Given the description of an element on the screen output the (x, y) to click on. 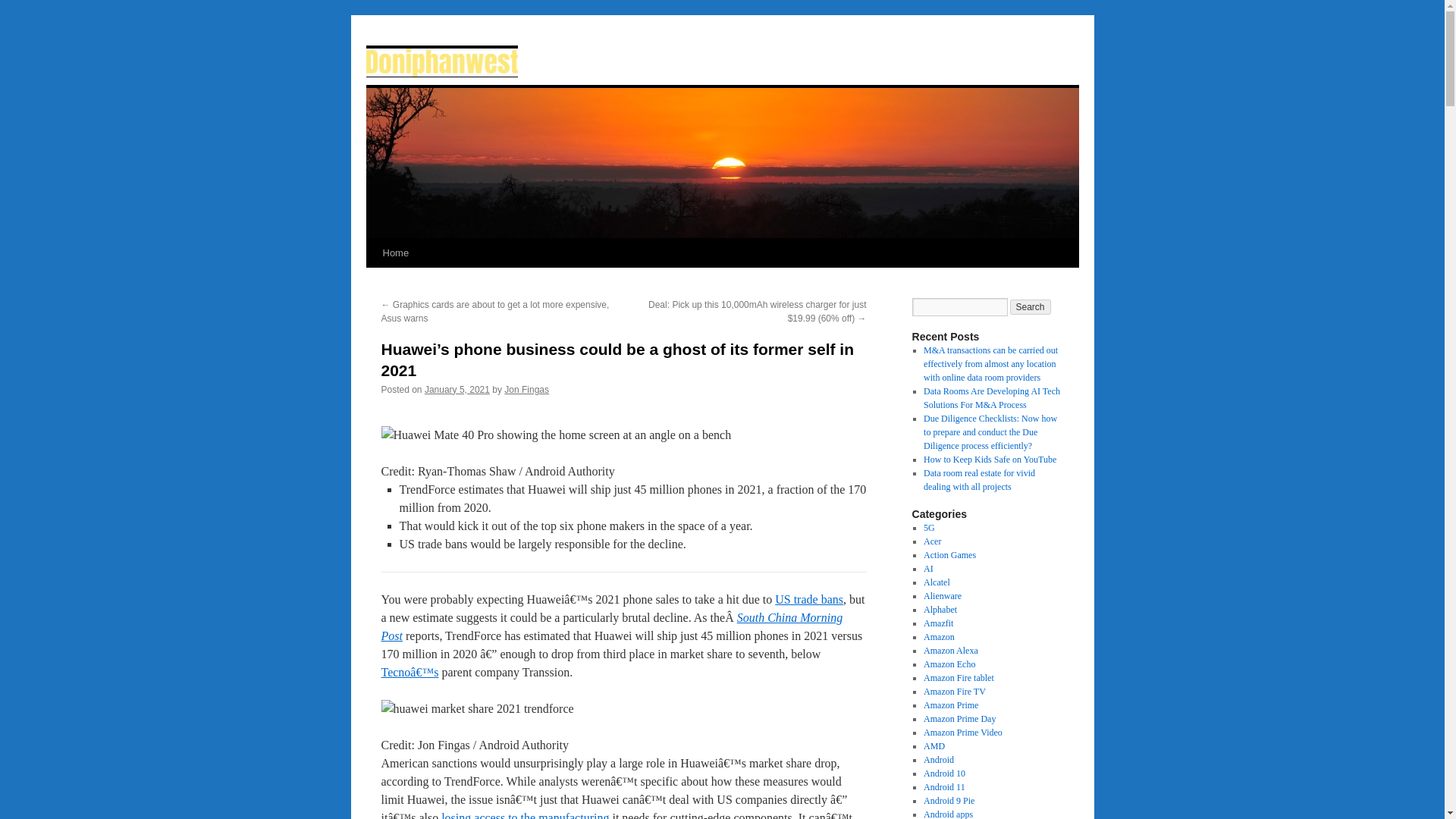
Search (1030, 306)
Data room real estate for vivid dealing with all projects (979, 479)
Acer (931, 541)
Jon Fingas (525, 389)
Action Games (949, 554)
View all posts by Jon Fingas (525, 389)
losing access to the manufacturing (524, 815)
Alienware (941, 595)
Alcatel (936, 582)
How to Keep Kids Safe on YouTube (990, 459)
Skip to content (372, 281)
South China Morning Post (611, 626)
AI (928, 568)
Alphabet (939, 609)
